Given the description of an element on the screen output the (x, y) to click on. 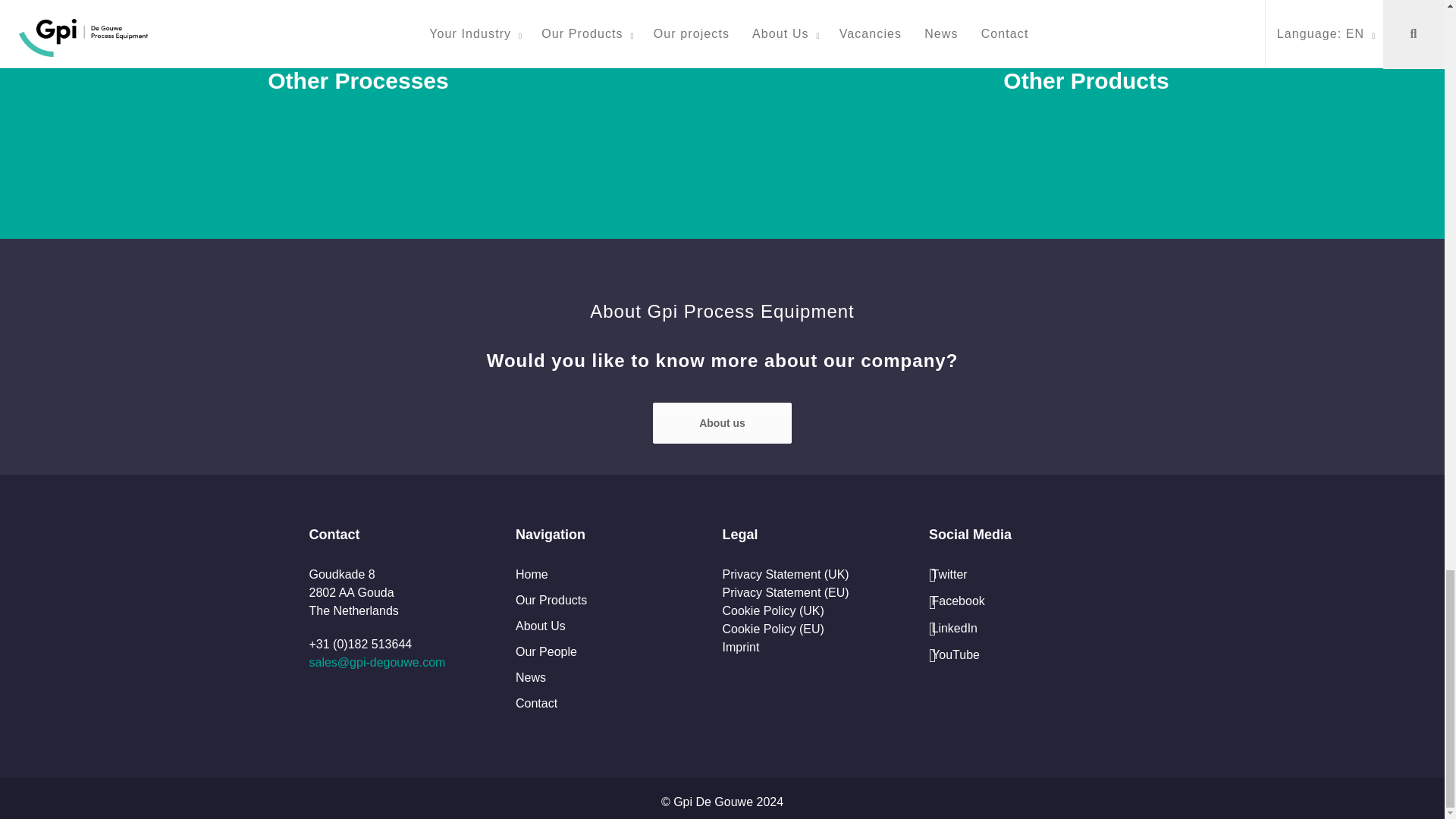
Contact (722, 422)
